Given the description of an element on the screen output the (x, y) to click on. 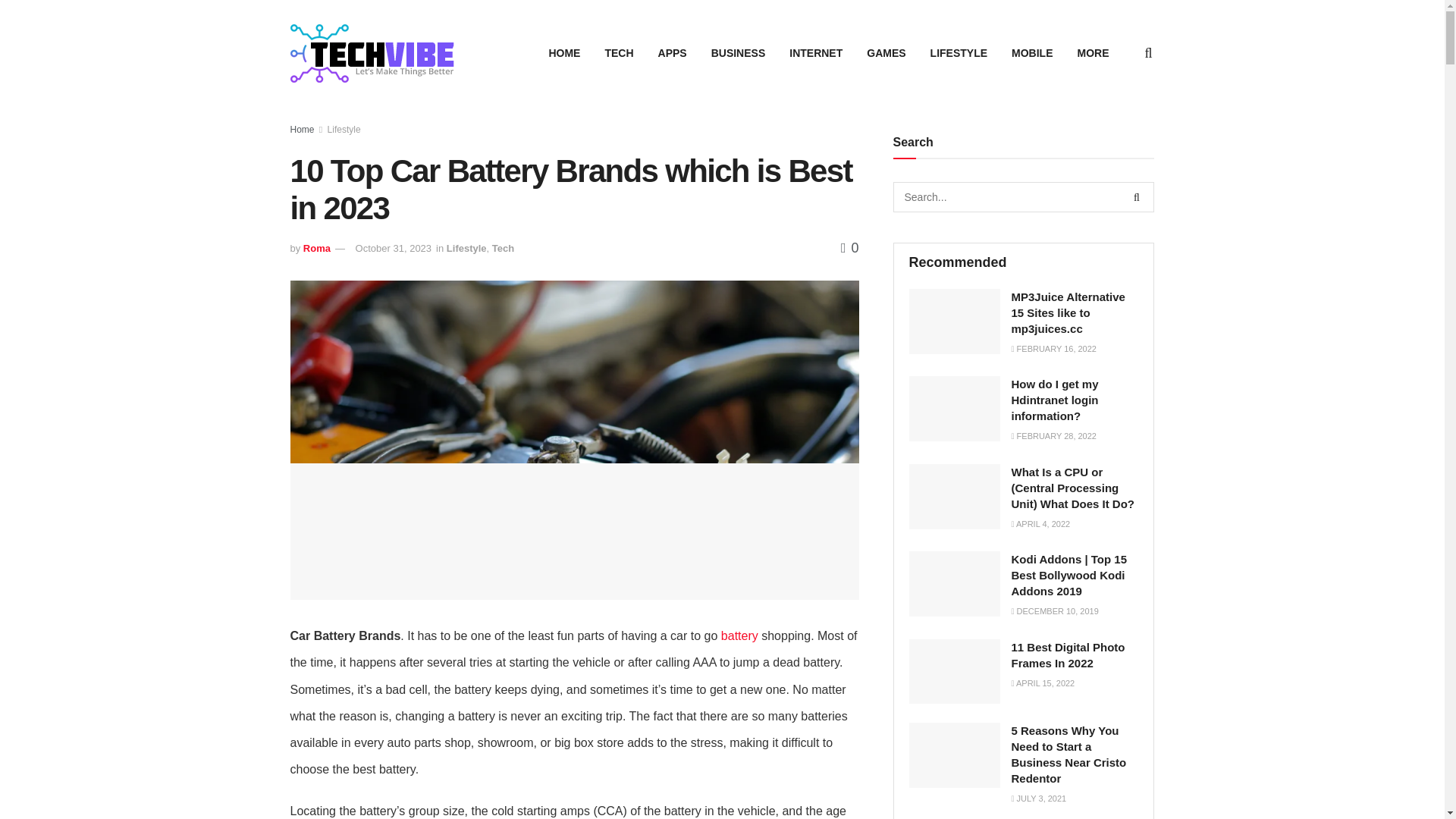
Home (301, 129)
BUSINESS (737, 53)
Lifestyle (466, 247)
LIFESTYLE (958, 53)
MORE (1092, 53)
October 31, 2023 (392, 247)
GAMES (885, 53)
Roma (316, 247)
TECH (618, 53)
INTERNET (815, 53)
